Given the description of an element on the screen output the (x, y) to click on. 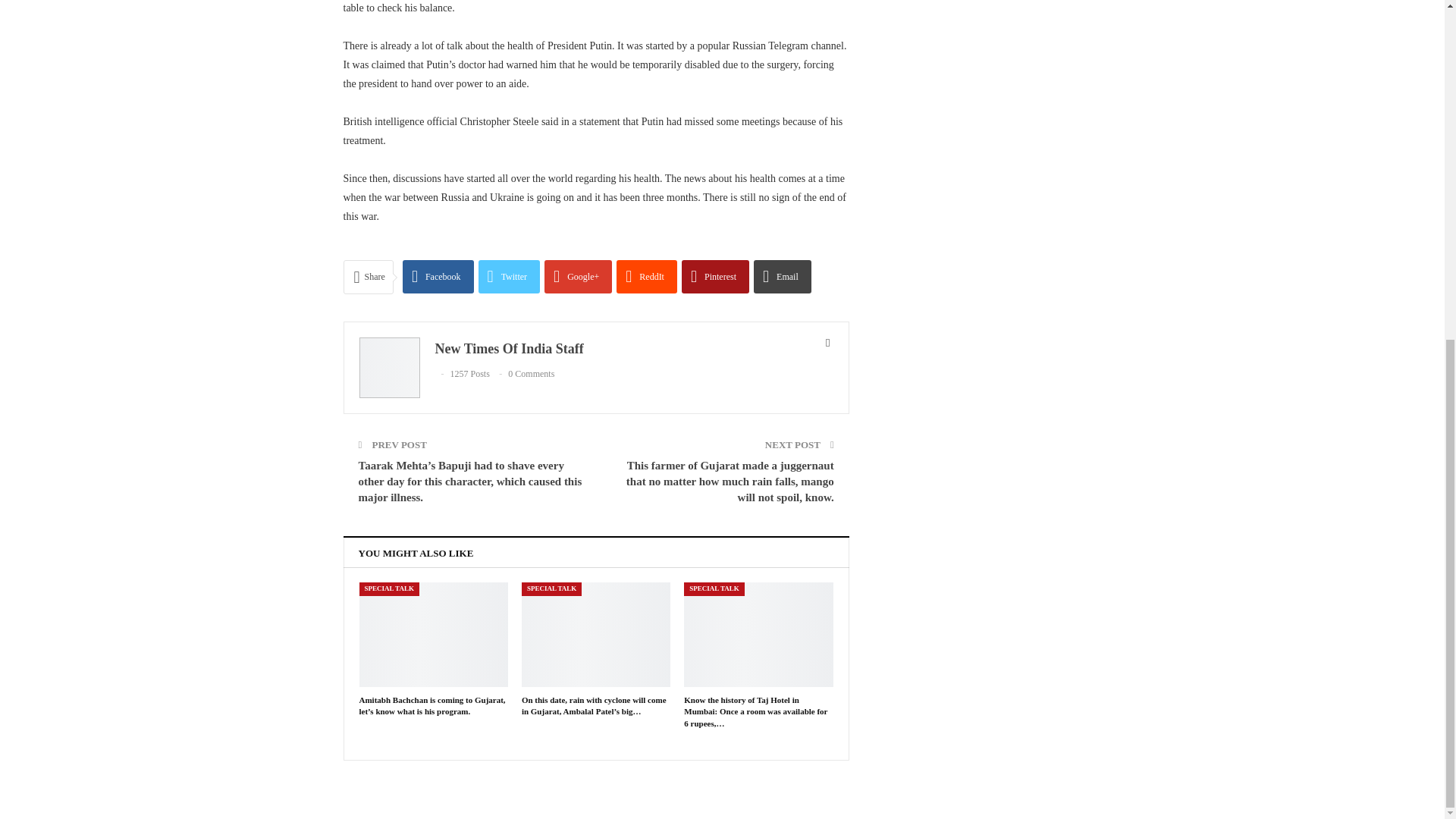
Facebook (438, 276)
Twitter (509, 276)
ReddIt (646, 276)
Pinterest (715, 276)
Email (782, 276)
YOU MIGHT ALSO LIKE (415, 552)
SPECIAL TALK (389, 588)
New Times Of India Staff (509, 348)
